Given the description of an element on the screen output the (x, y) to click on. 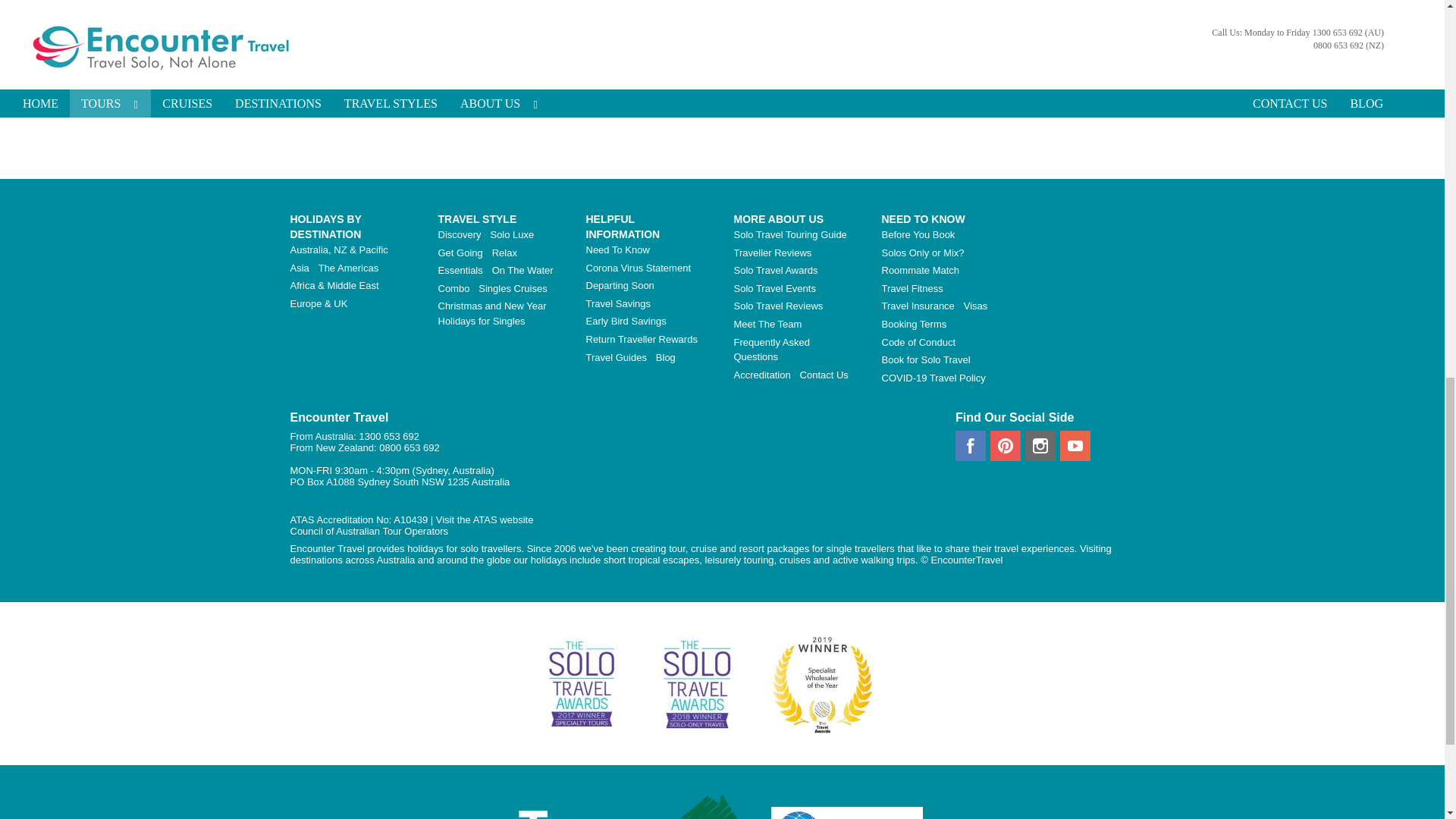
ATAS (485, 519)
Asia (301, 267)
Solo Luxe (514, 234)
The Americas (351, 267)
Council of Australian Tour Operators Website (368, 531)
Discovery (462, 234)
